Given the description of an element on the screen output the (x, y) to click on. 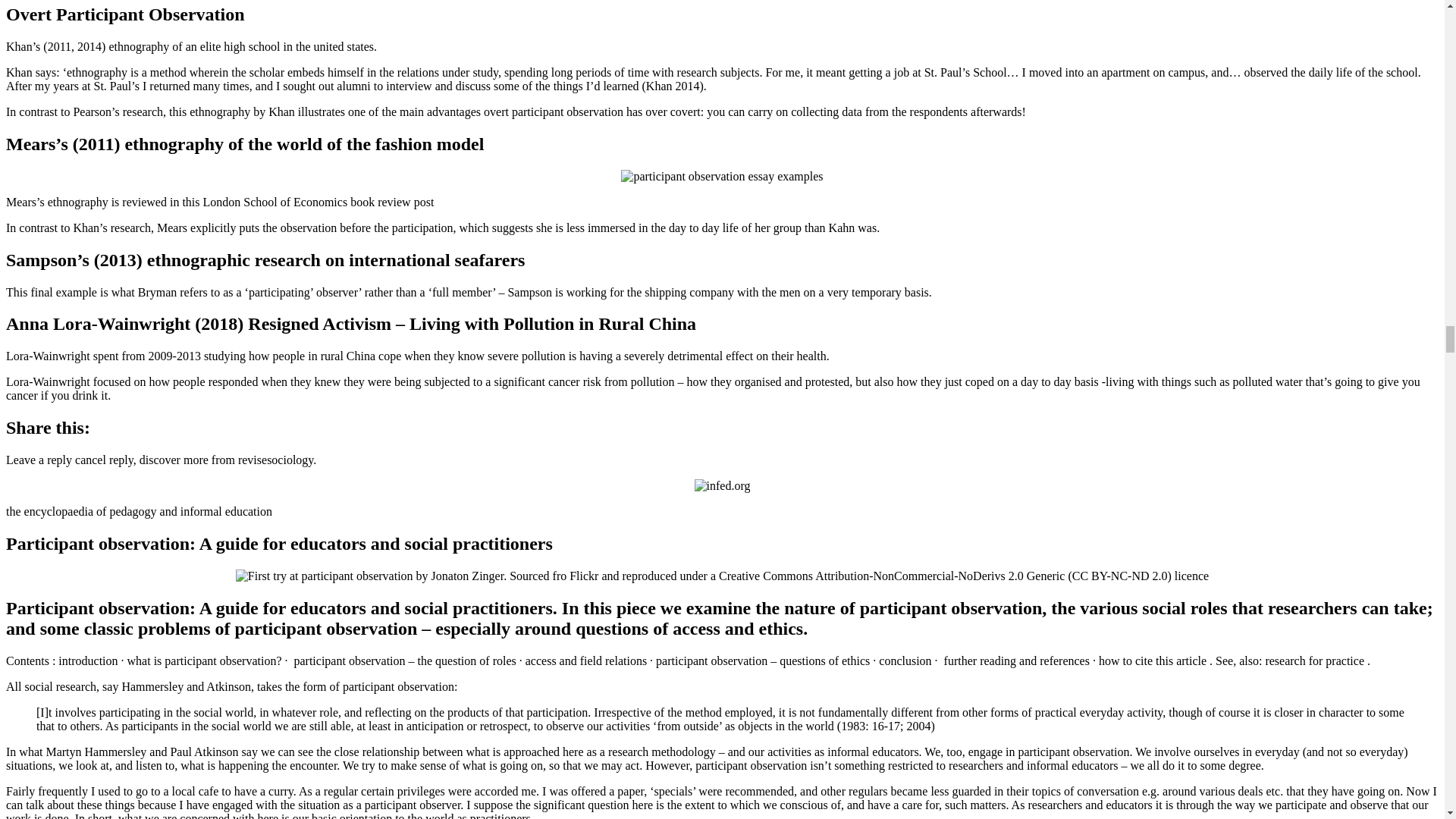
participant observation essay examples (722, 486)
participant observation essay examples (721, 176)
participant observation essay examples (721, 576)
